Given the description of an element on the screen output the (x, y) to click on. 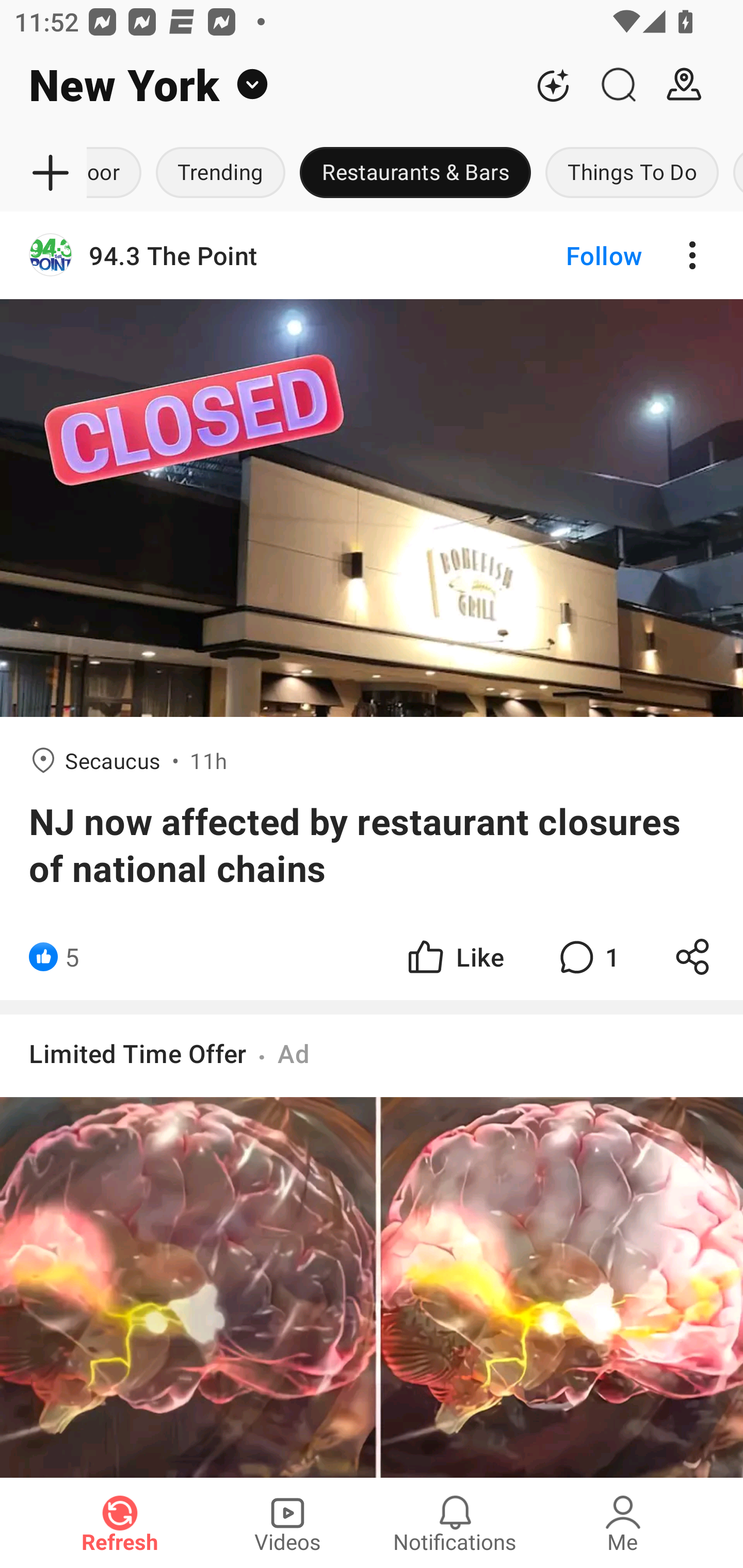
New York (260, 84)
Trending (220, 172)
Restaurants & Bars (414, 172)
Things To Do (631, 172)
94.3 The Point Follow (371, 255)
Follow (569, 255)
5 (72, 957)
Like (454, 957)
1 (587, 957)
Limited Time Offer (137, 1053)
Videos (287, 1522)
Notifications (455, 1522)
Me (622, 1522)
